Given the description of an element on the screen output the (x, y) to click on. 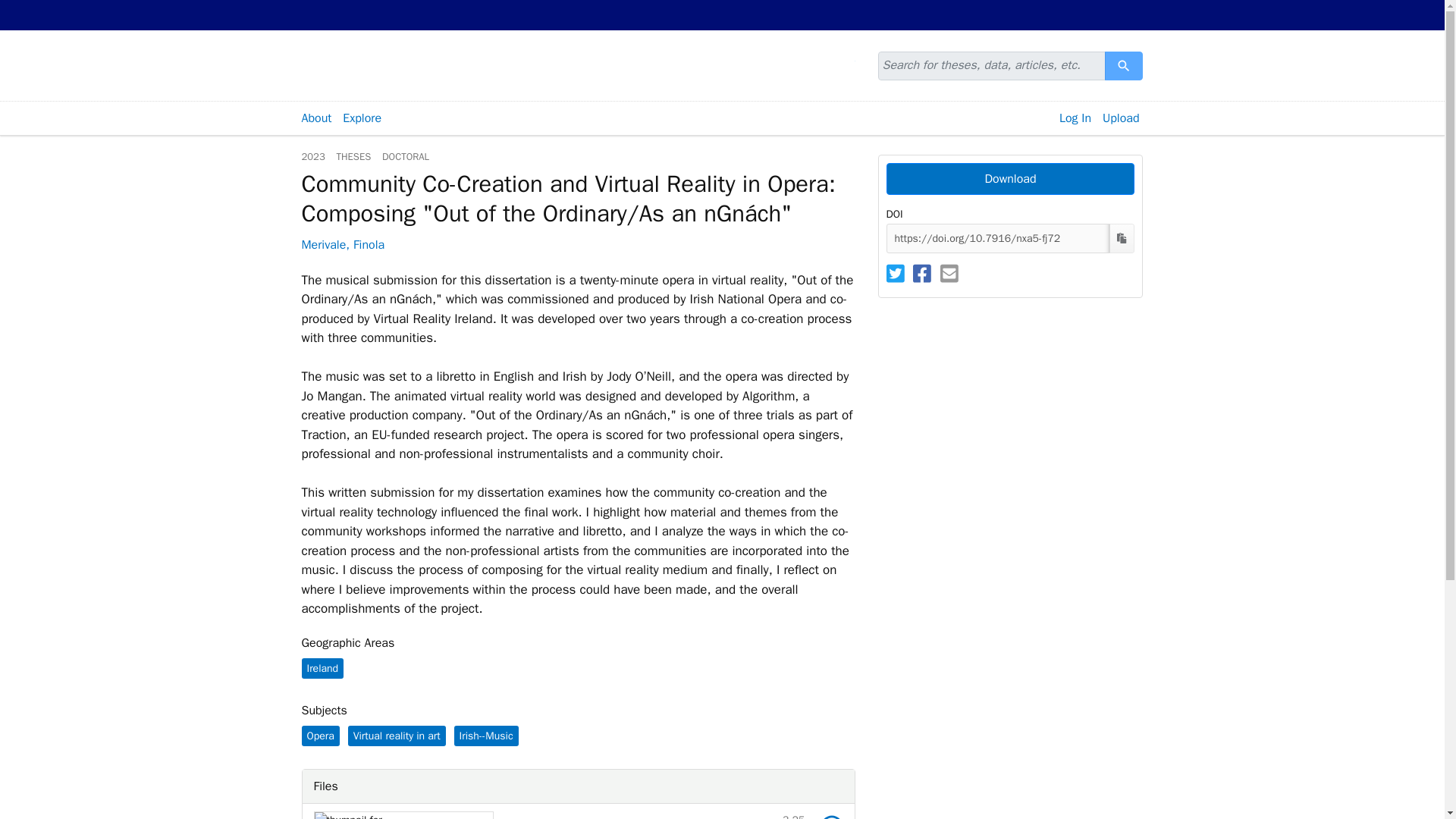
Ireland (322, 668)
Upload (1120, 118)
Search (1123, 65)
Virtual reality in art (396, 735)
Skip to main content (39, 9)
Opera (832, 816)
About (320, 735)
Download file (1123, 65)
